Given the description of an element on the screen output the (x, y) to click on. 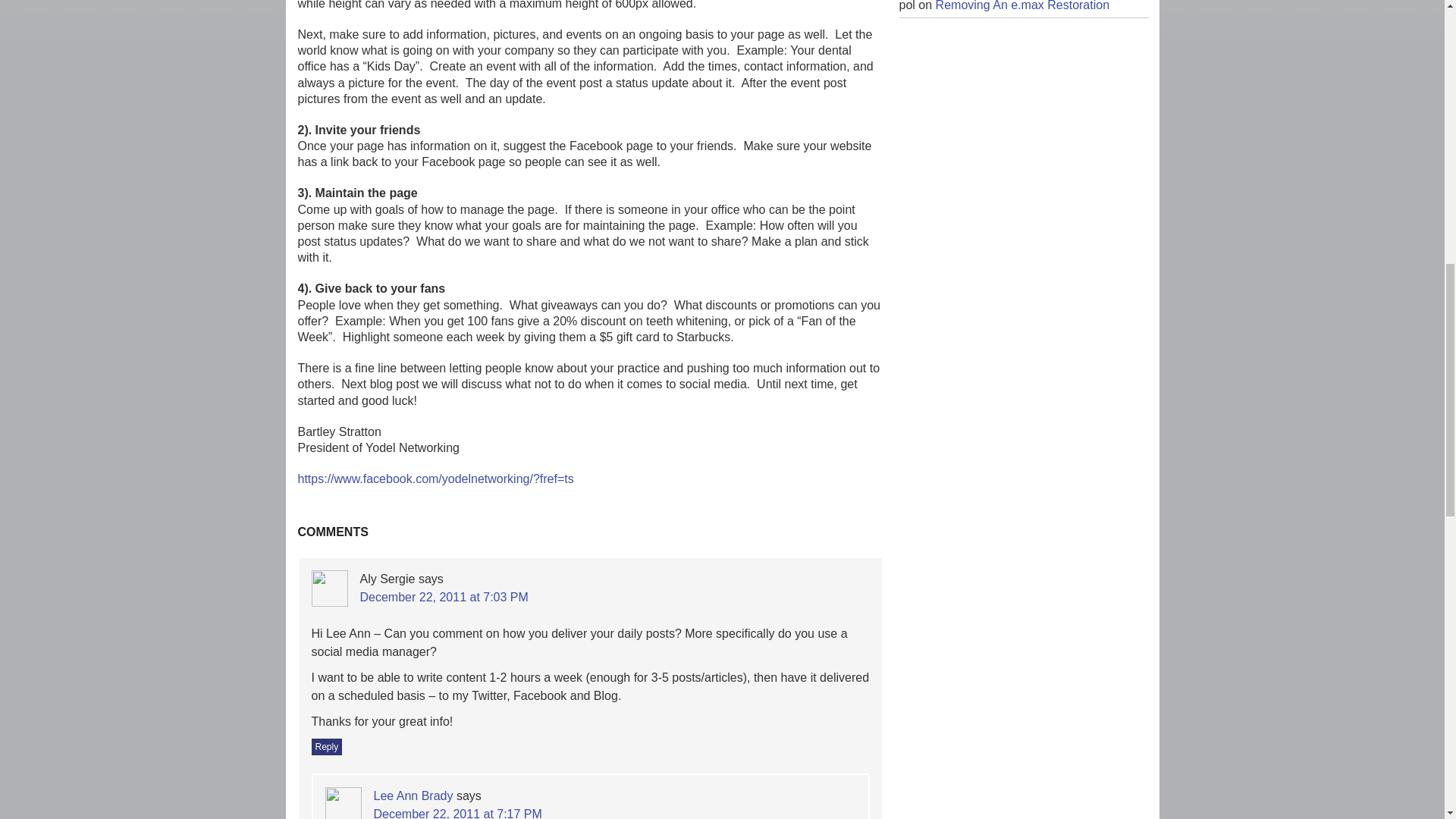
December 22, 2011 at 7:03 PM (443, 596)
December 22, 2011 at 7:17 PM (456, 813)
Yodel Networking (435, 478)
Lee Ann Brady (412, 795)
Reply (326, 746)
